Given the description of an element on the screen output the (x, y) to click on. 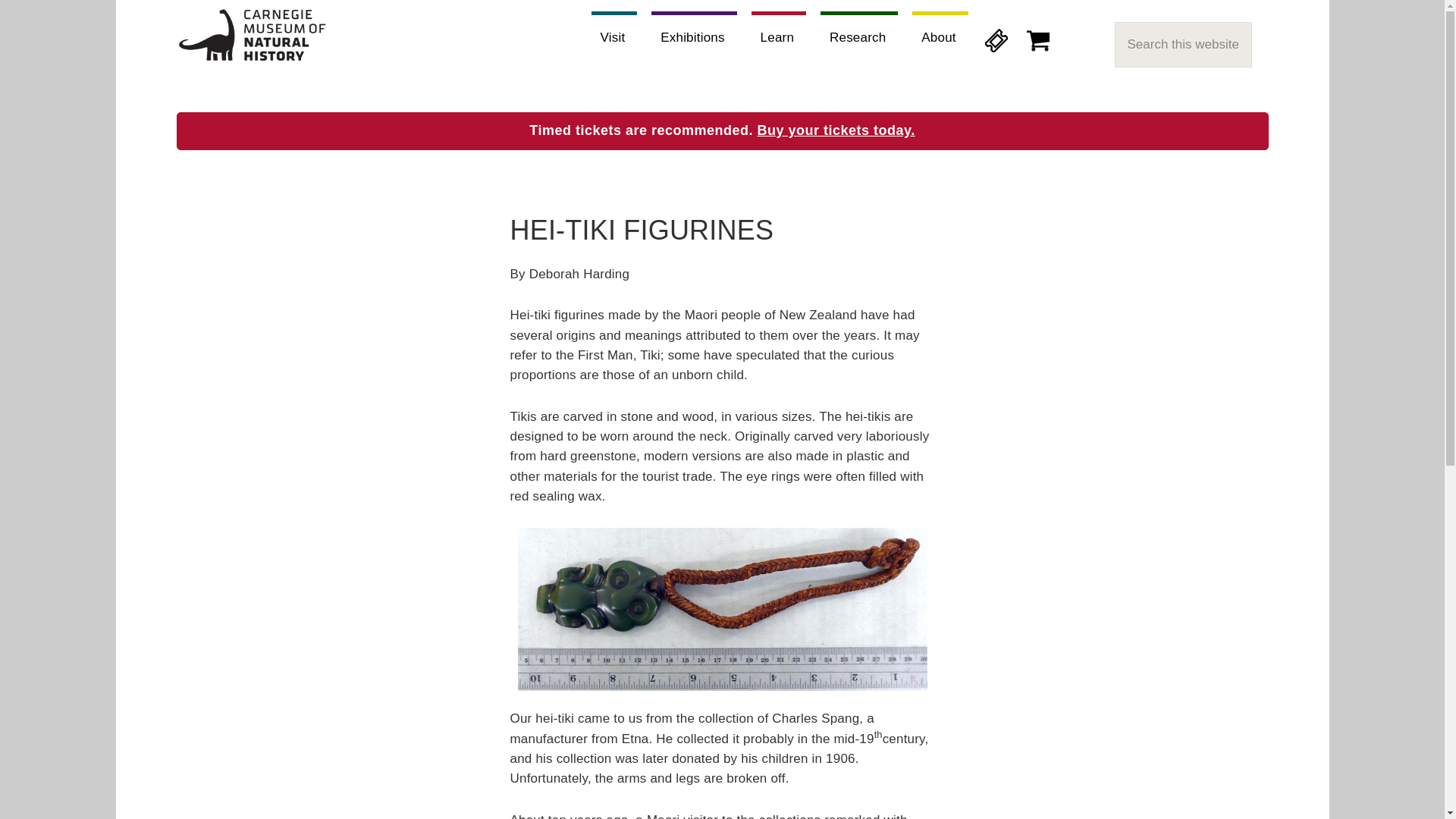
Carnegie Museum of Natural History (251, 38)
About (940, 33)
Exhibitions (693, 33)
Buy your tickets today. (836, 130)
Learn (778, 33)
Visit (614, 33)
Research (859, 33)
